Given the description of an element on the screen output the (x, y) to click on. 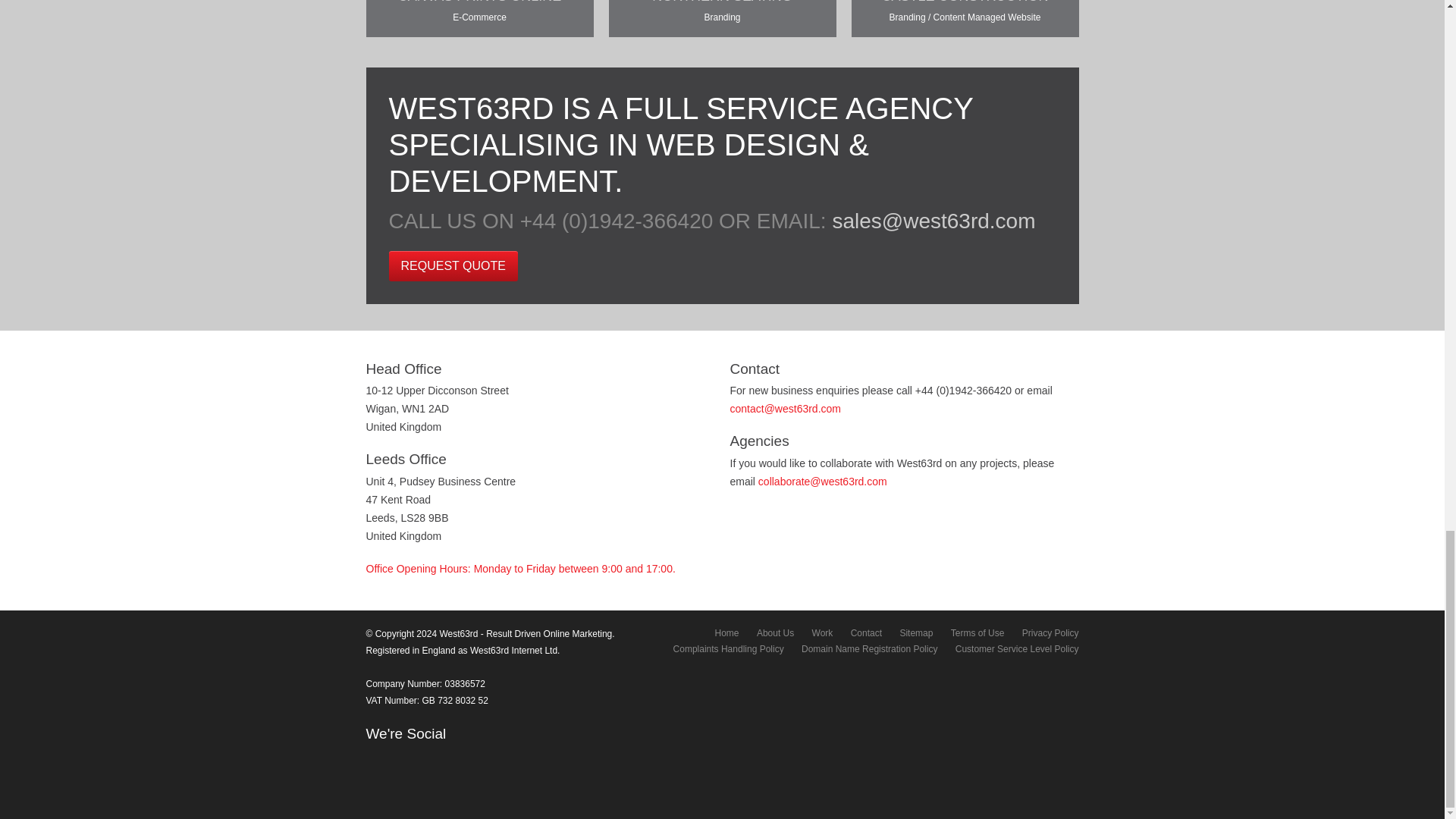
Google Plus (421, 759)
facebook (374, 759)
Twitter (398, 759)
